Given the description of an element on the screen output the (x, y) to click on. 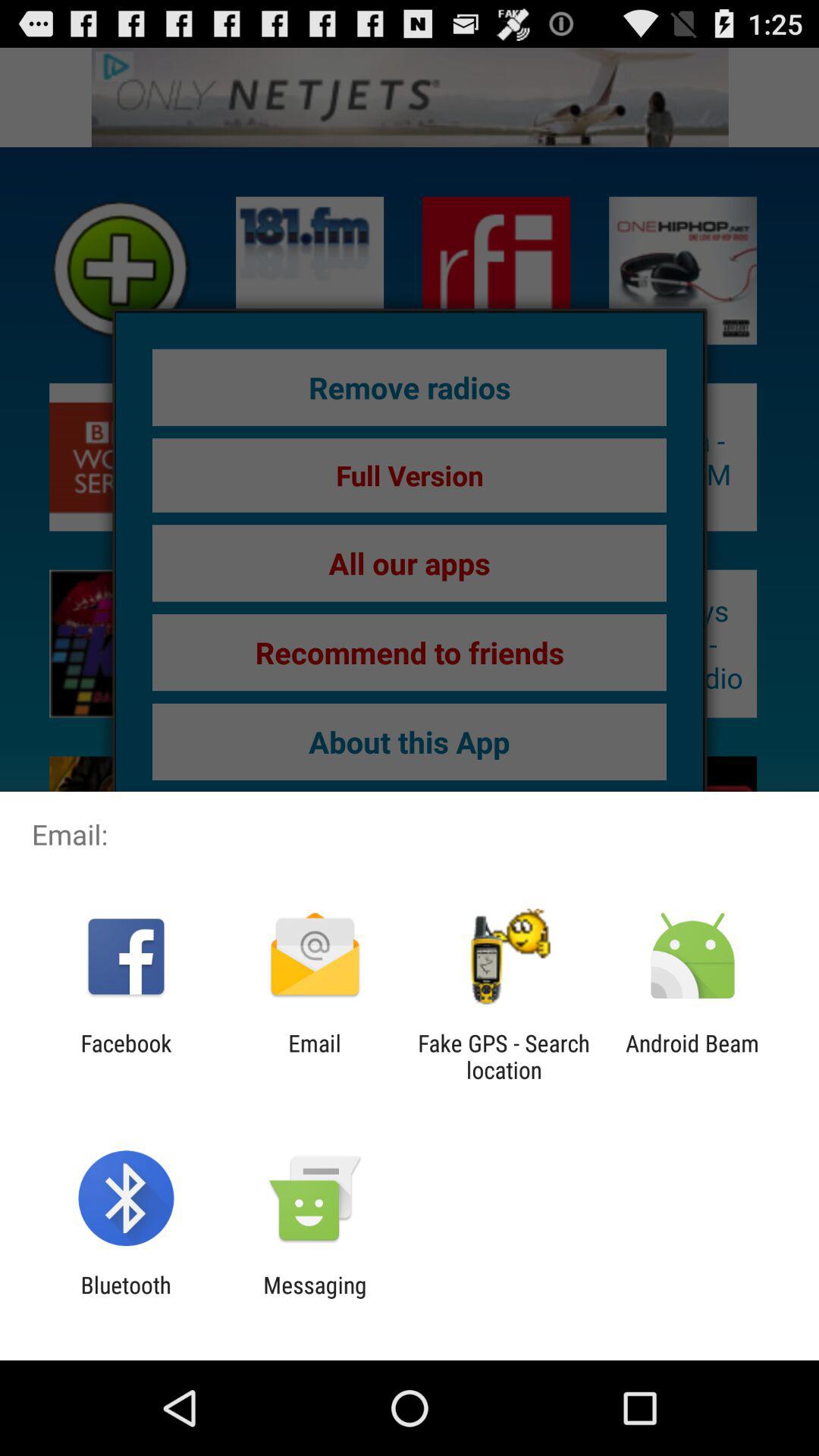
flip to facebook icon (125, 1056)
